Given the description of an element on the screen output the (x, y) to click on. 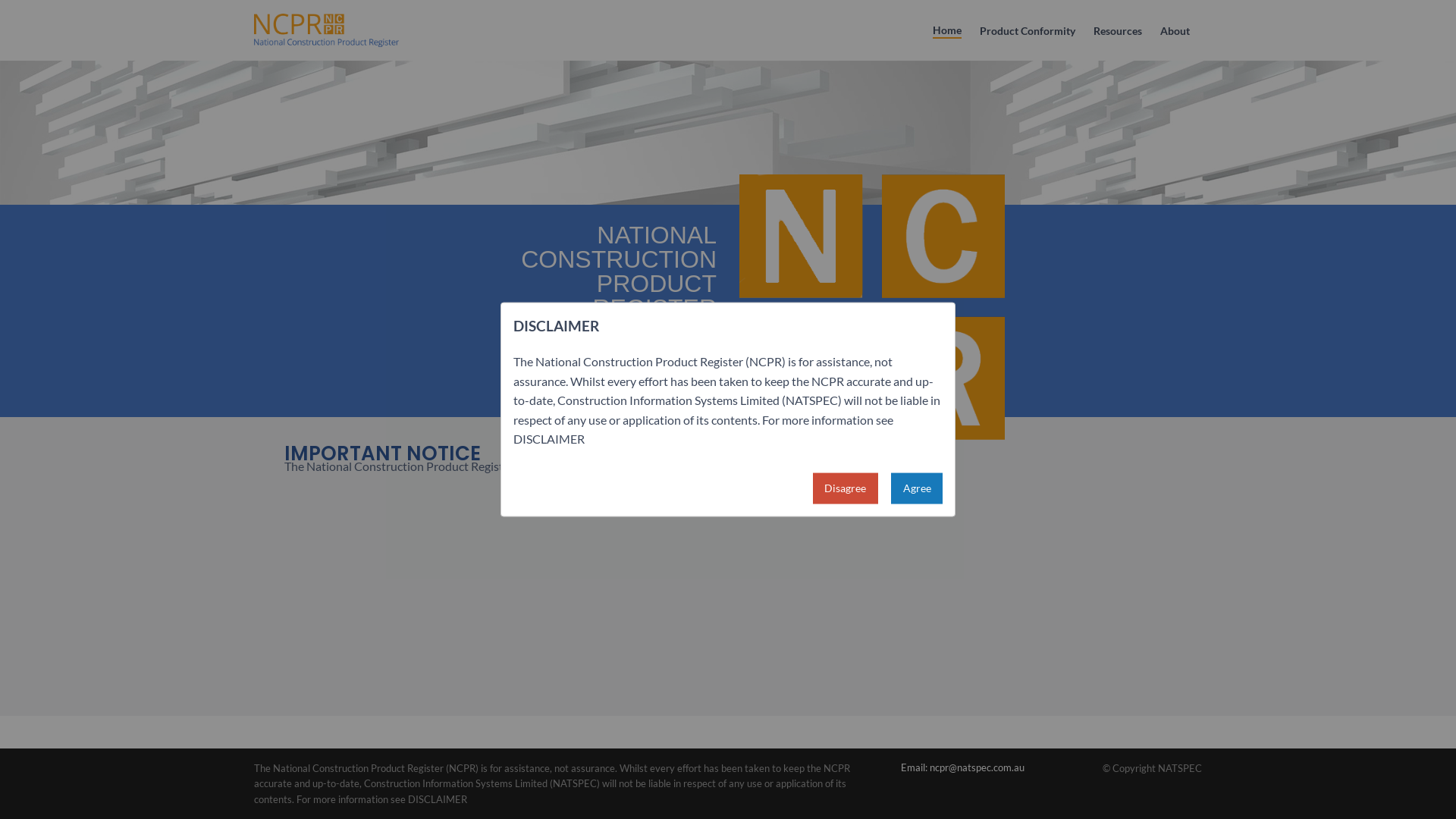
About Element type: text (1174, 31)
Disagree Element type: text (845, 488)
Resources Element type: text (1117, 31)
Agree Element type: text (916, 488)
Product Conformity Element type: text (1027, 31)
Home Element type: text (946, 30)
Email: ncpr@natspec.com.au Element type: text (962, 767)
